Given the description of an element on the screen output the (x, y) to click on. 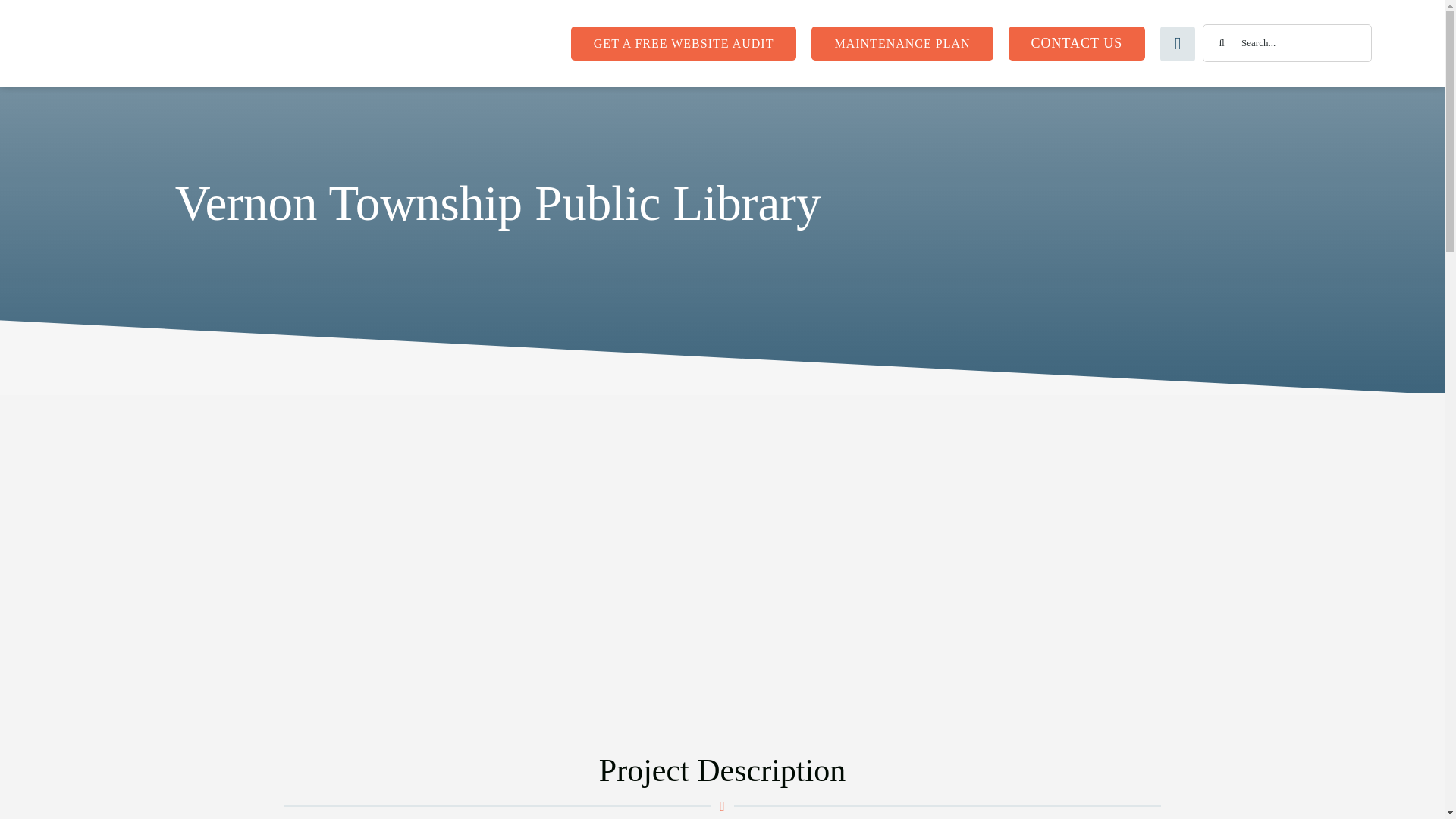
GET A FREE WEBSITE AUDIT (683, 43)
Contact Us (414, 648)
CONTACT US (1077, 43)
MAINTENANCE PLAN (901, 43)
